Given the description of an element on the screen output the (x, y) to click on. 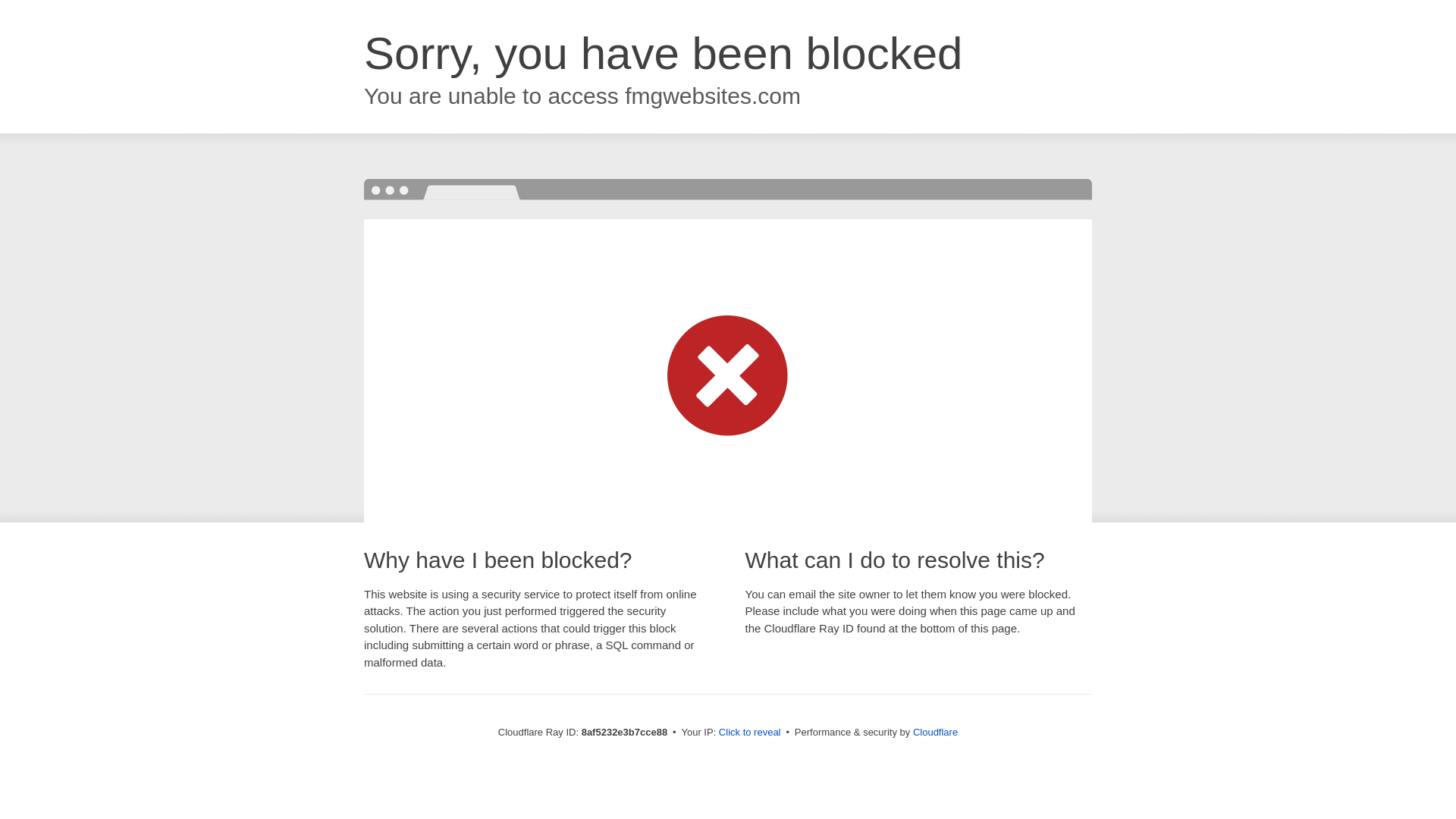
Click to reveal (749, 732)
Cloudflare (935, 731)
